Given the description of an element on the screen output the (x, y) to click on. 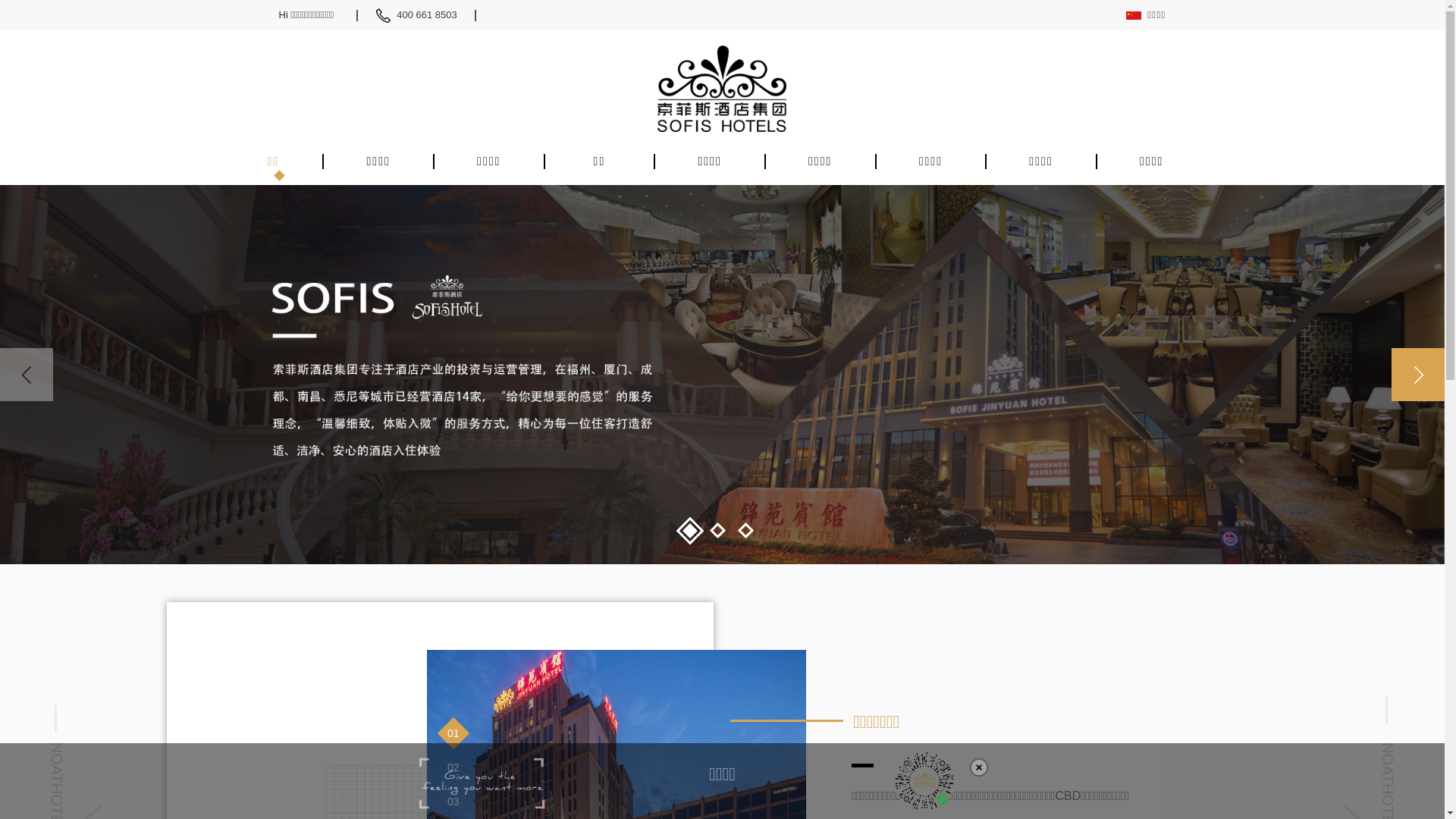
400 661 8503 Element type: text (434, 15)
